Given the description of an element on the screen output the (x, y) to click on. 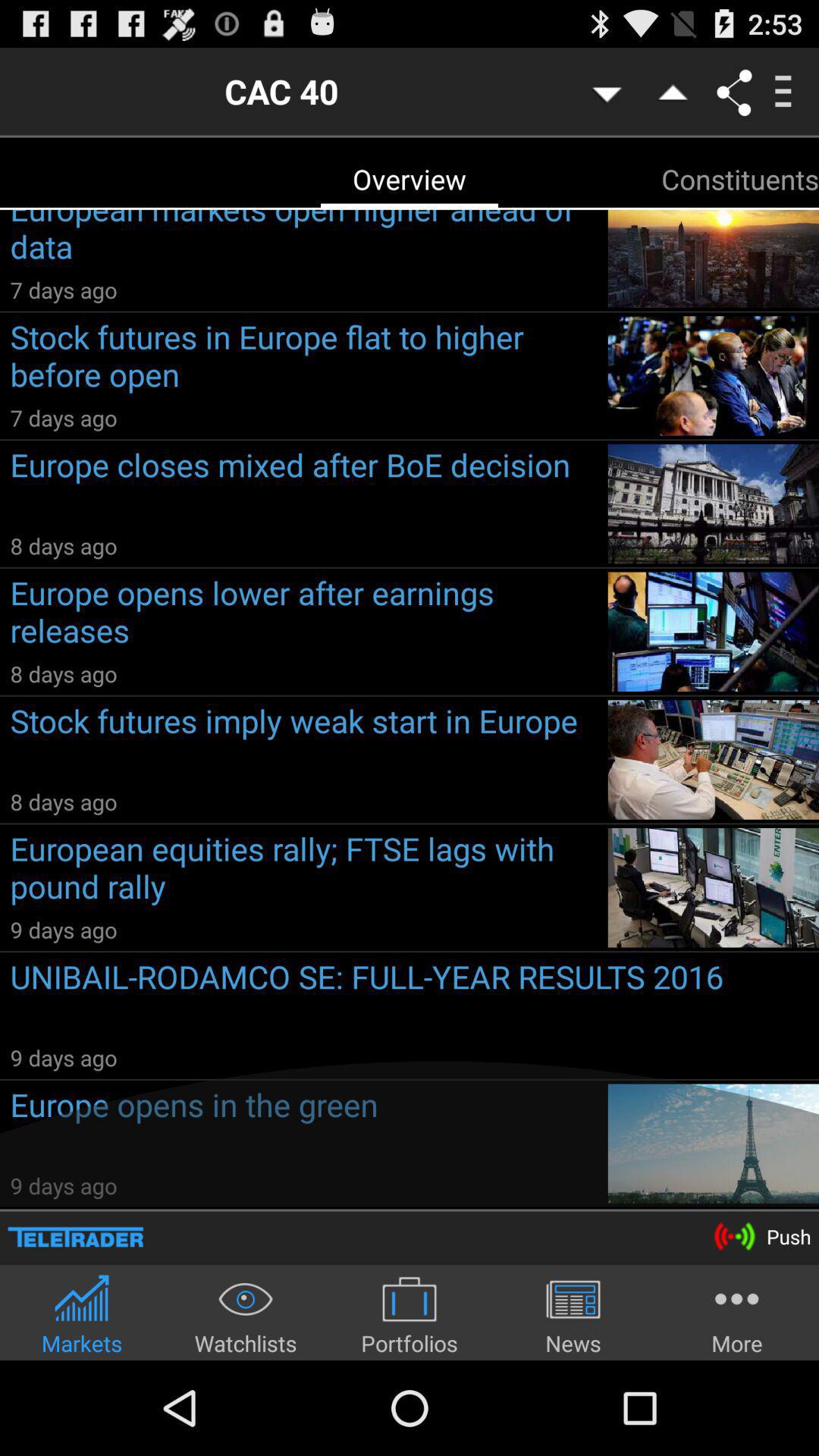
select app next to the push icon (75, 1236)
